Given the description of an element on the screen output the (x, y) to click on. 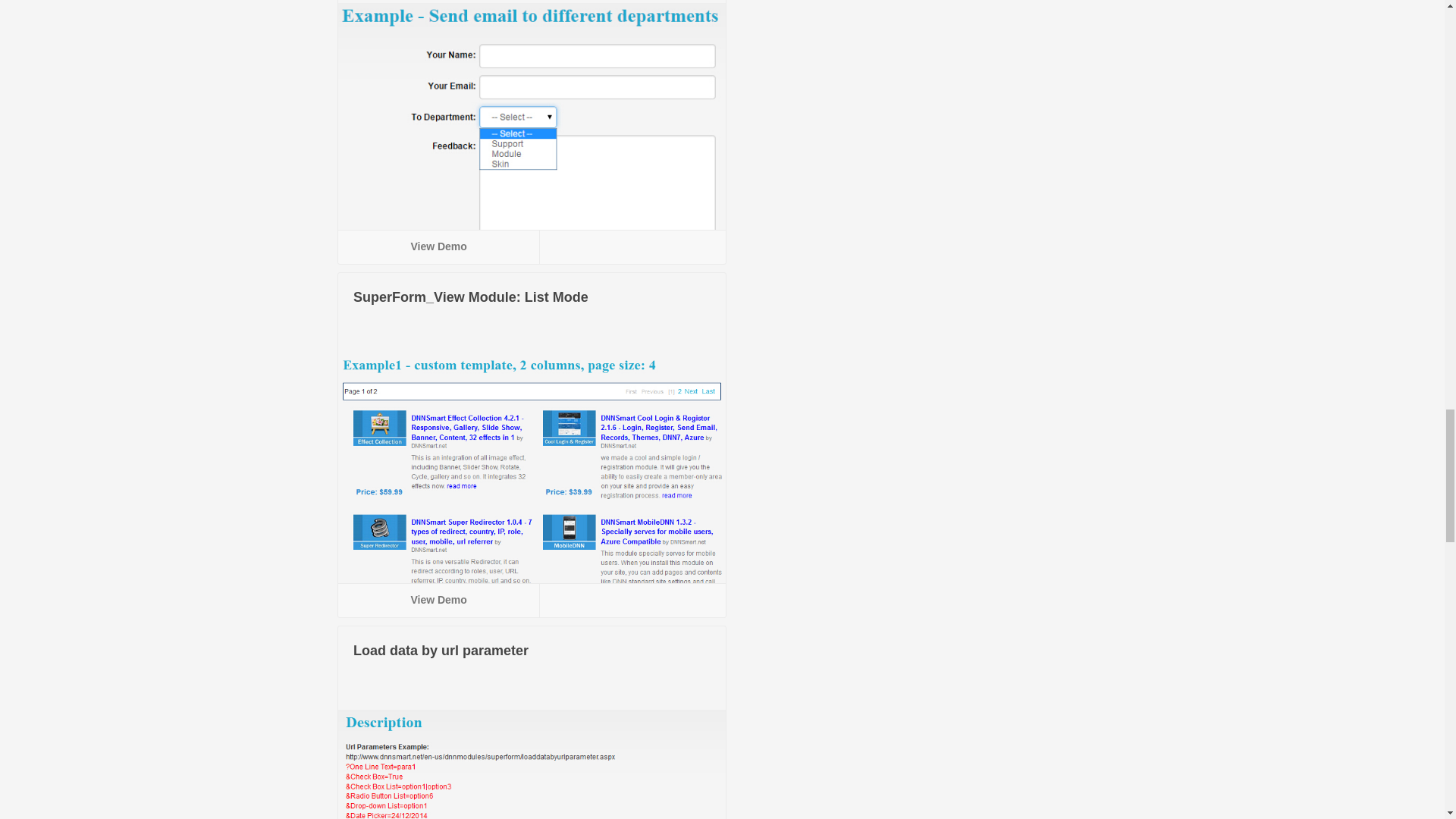
Load data by url parameter (440, 650)
